Given the description of an element on the screen output the (x, y) to click on. 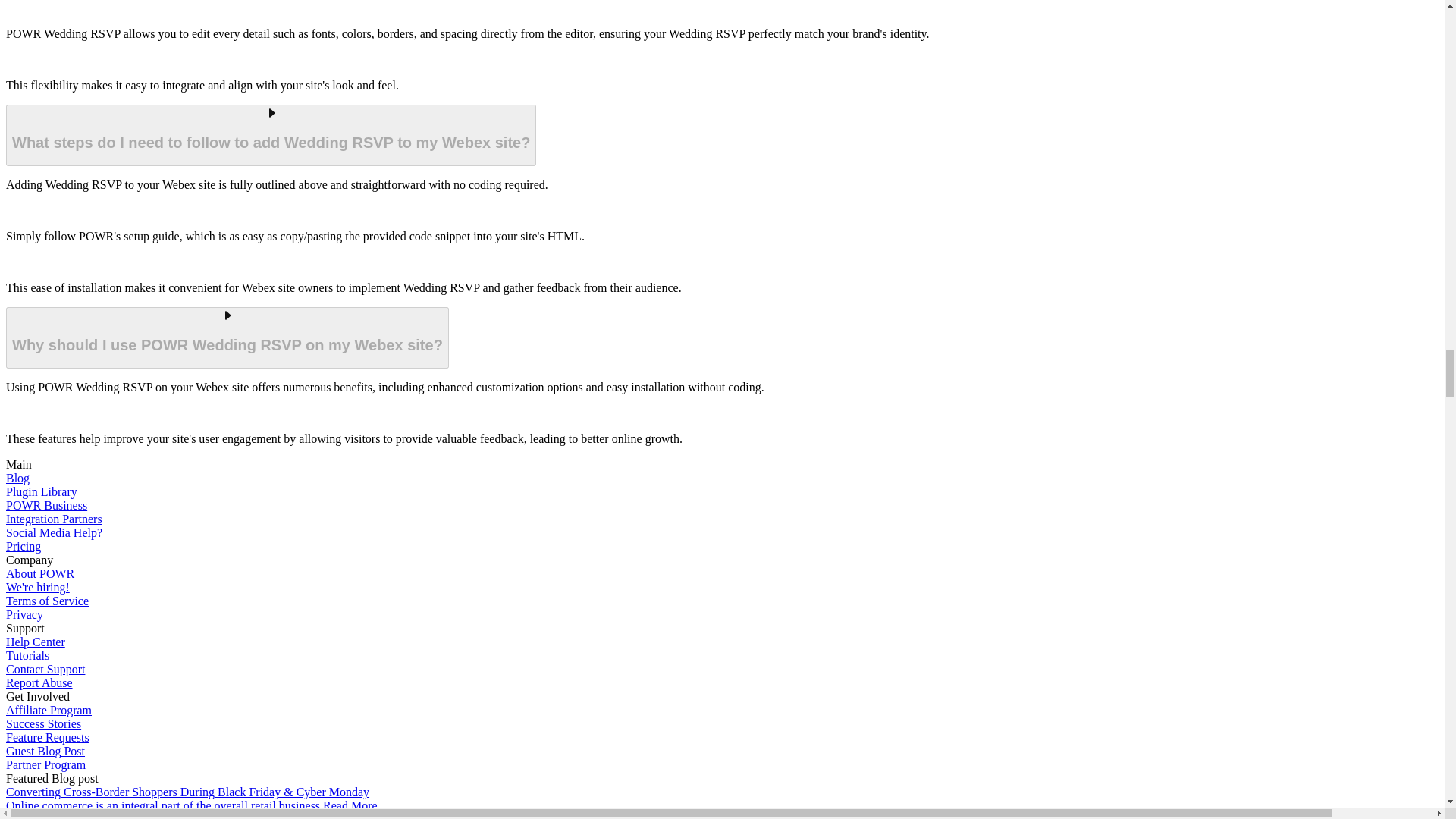
Why should I use POWR Wedding RSVP on my Webex site? (226, 337)
